Given the description of an element on the screen output the (x, y) to click on. 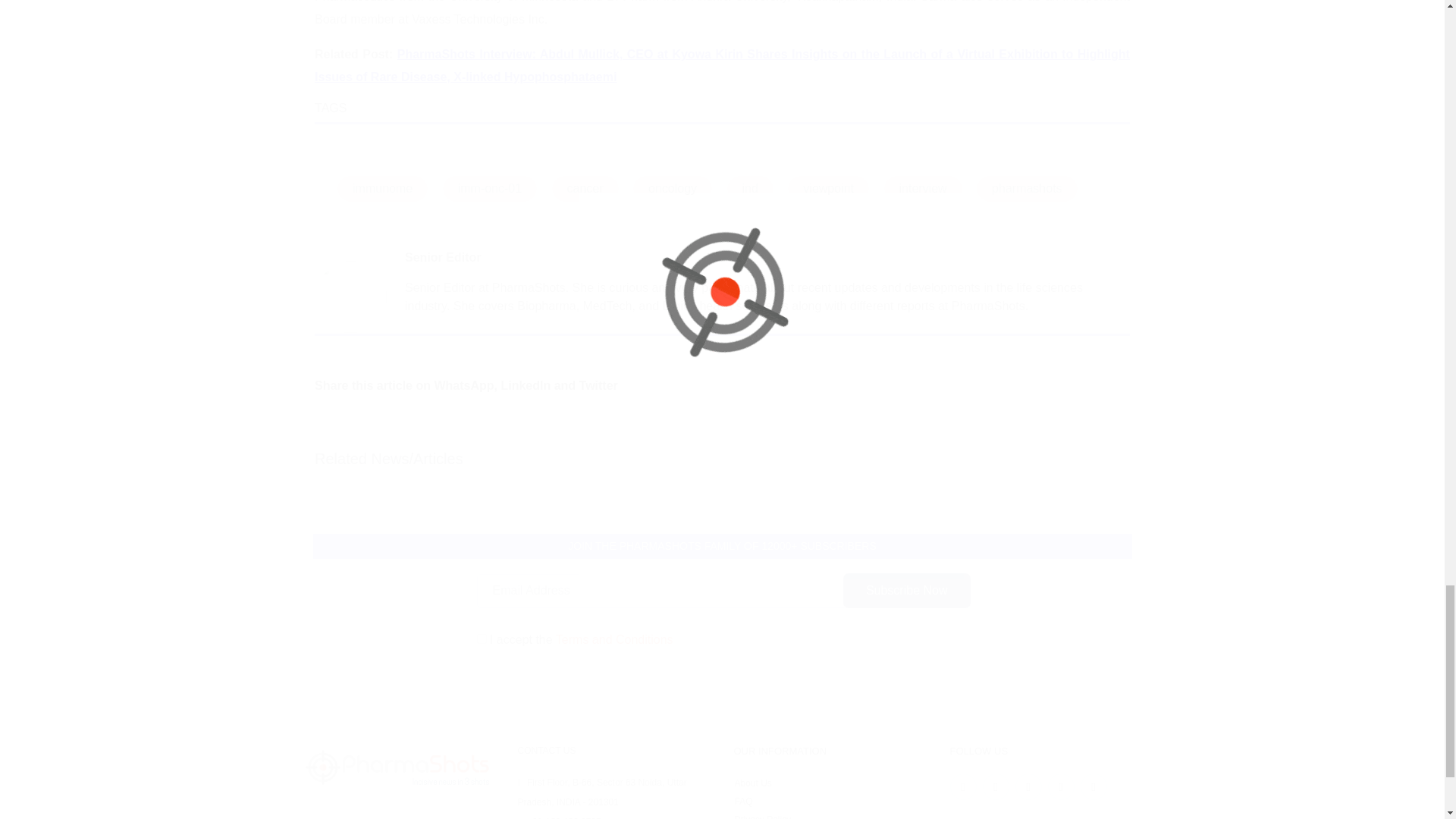
viewpoint (828, 188)
Senior Editor (442, 256)
pharmashots (1026, 188)
immunome (382, 188)
interview (922, 188)
imm-onc-01 (489, 188)
cancer (584, 188)
ind (749, 188)
on (481, 638)
